Given the description of an element on the screen output the (x, y) to click on. 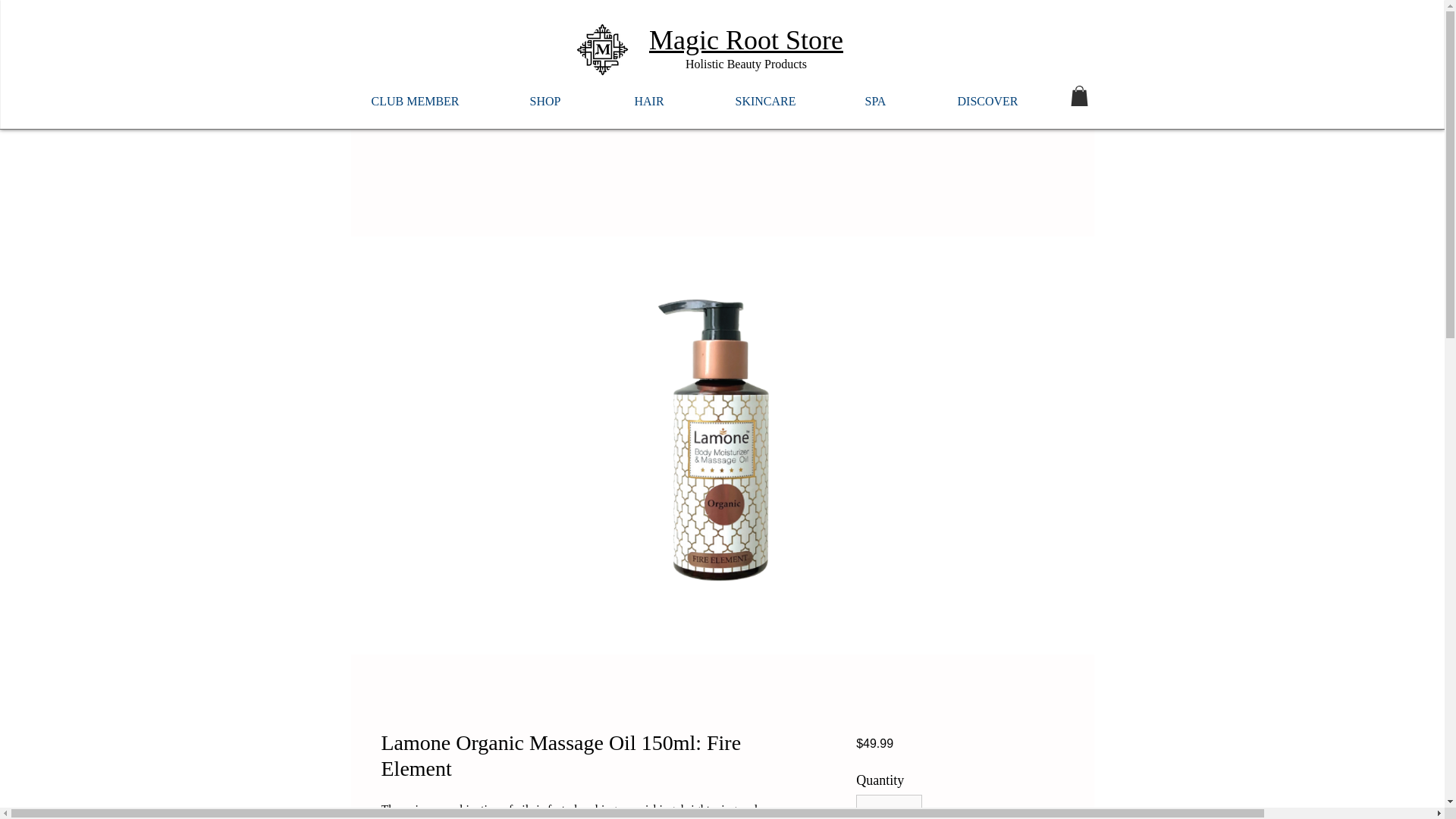
Magic Root Store (746, 40)
CLUB MEMBER (437, 94)
1 (888, 806)
Holistic Beauty Products (745, 63)
SHOP (567, 94)
